Given the description of an element on the screen output the (x, y) to click on. 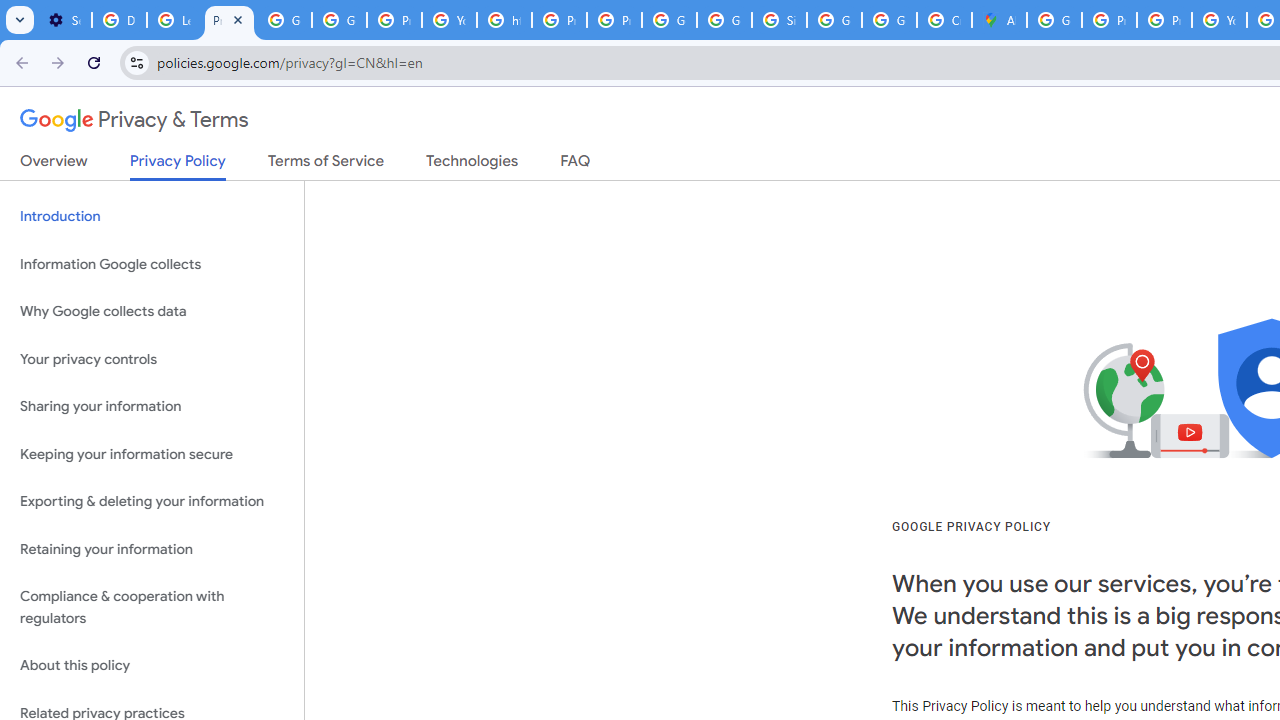
YouTube (1218, 20)
Privacy Help Center - Policies Help (1163, 20)
Google Account Help (284, 20)
Why Google collects data (152, 312)
Retaining your information (152, 548)
Exporting & deleting your information (152, 502)
